Given the description of an element on the screen output the (x, y) to click on. 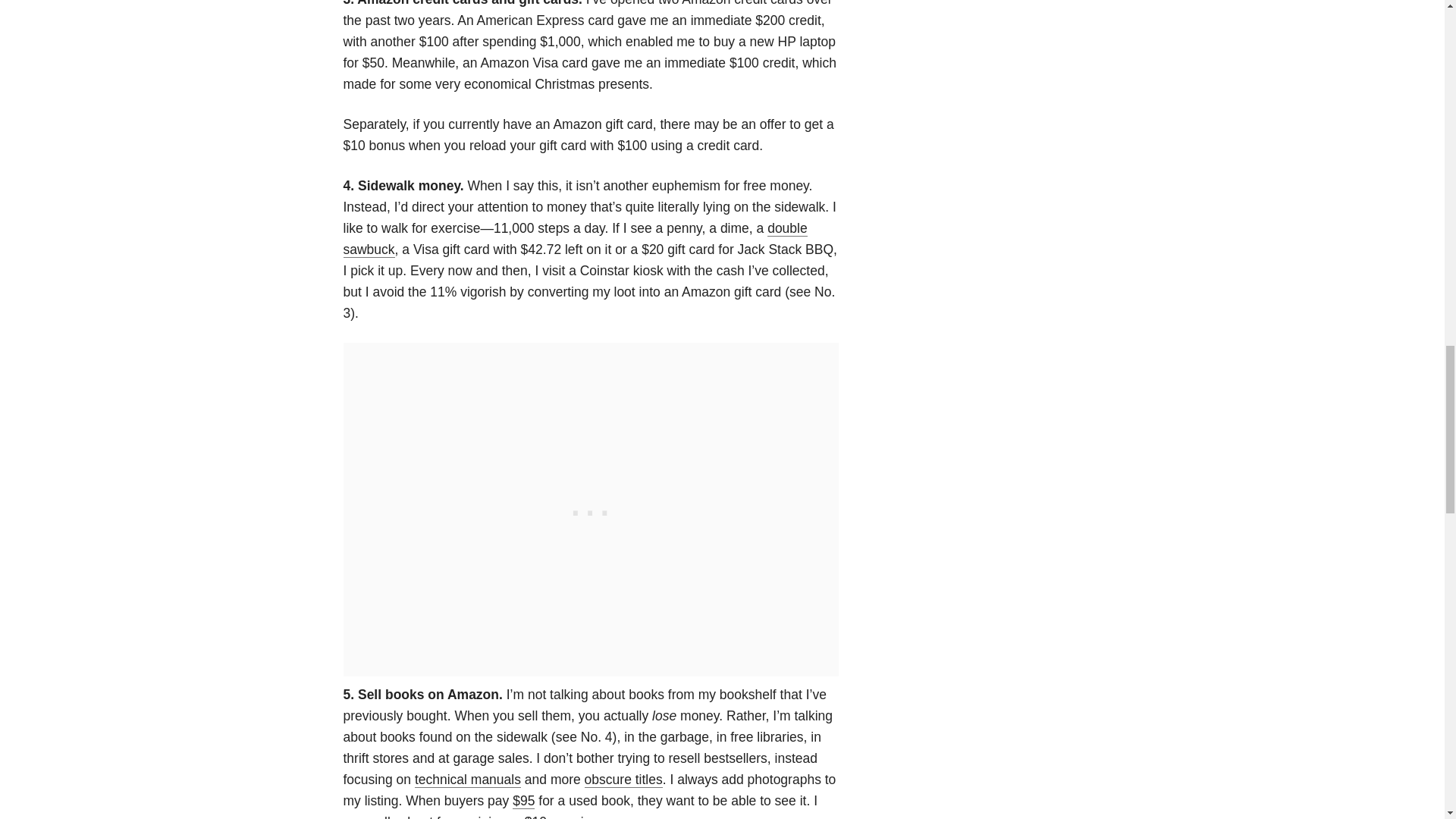
double sawbuck (574, 238)
technical manuals (467, 779)
obscure titles (623, 779)
